Given the description of an element on the screen output the (x, y) to click on. 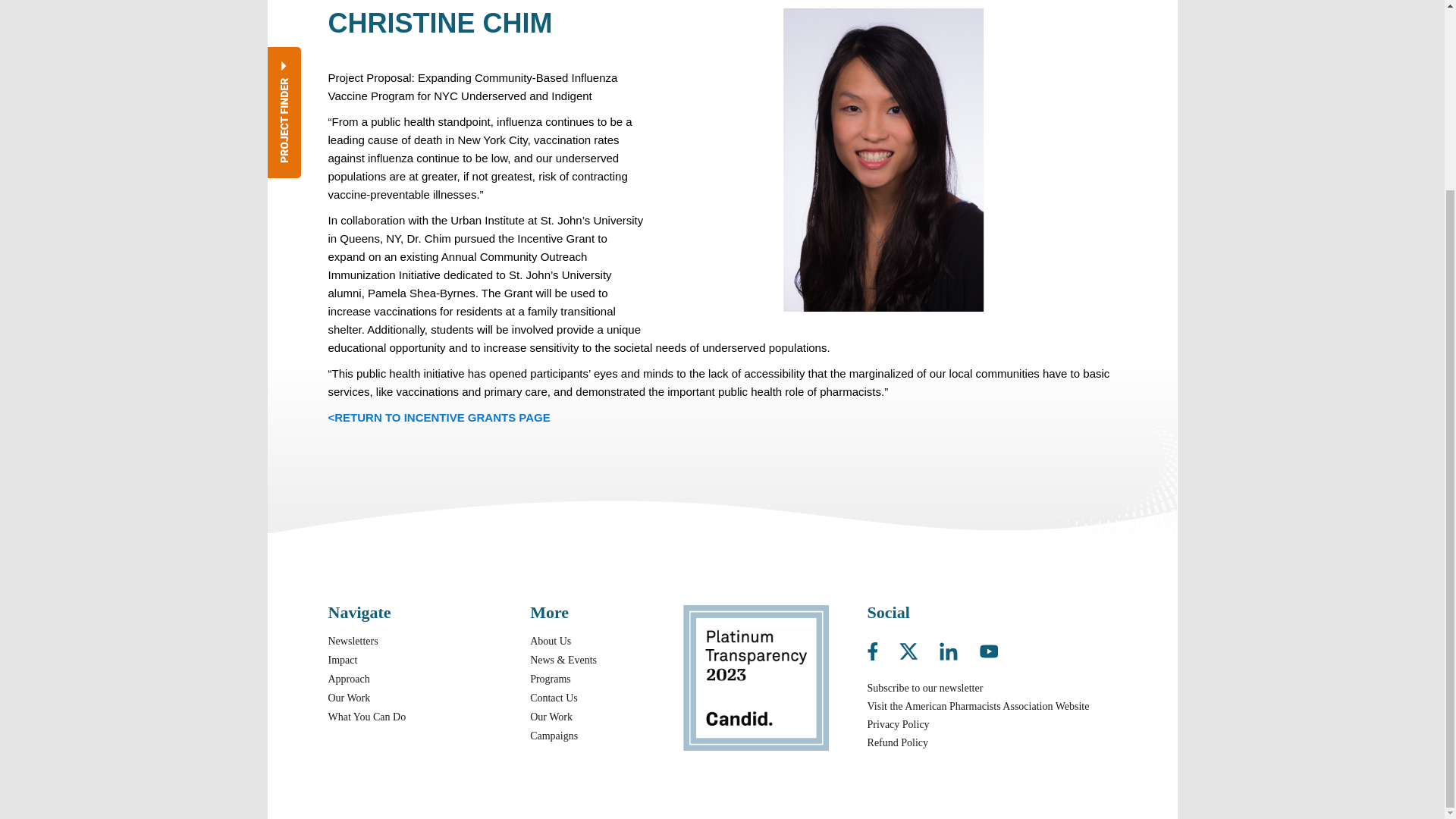
Contact Us (553, 697)
What You Can Do (366, 716)
Approach (348, 678)
LinkedIn (957, 647)
Twitter (917, 647)
Approach (348, 678)
Our Work (348, 697)
Facebook (881, 647)
Newsletters (352, 641)
Impact (341, 659)
About Us (549, 641)
YouTube (988, 647)
What You Can Do (366, 716)
Newsletters (352, 641)
Programs (549, 678)
